Given the description of an element on the screen output the (x, y) to click on. 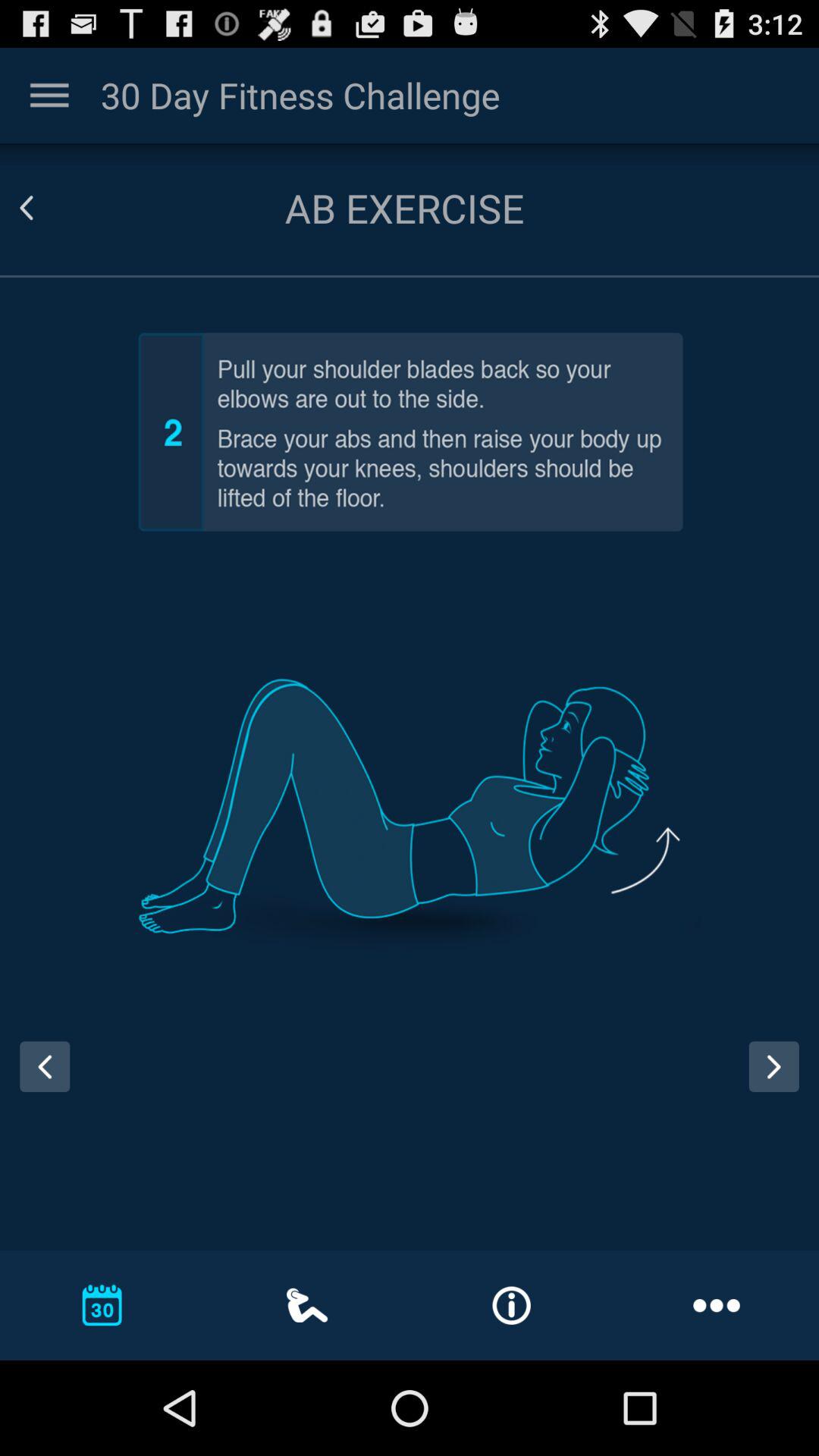
go to next (779, 1081)
